Given the description of an element on the screen output the (x, y) to click on. 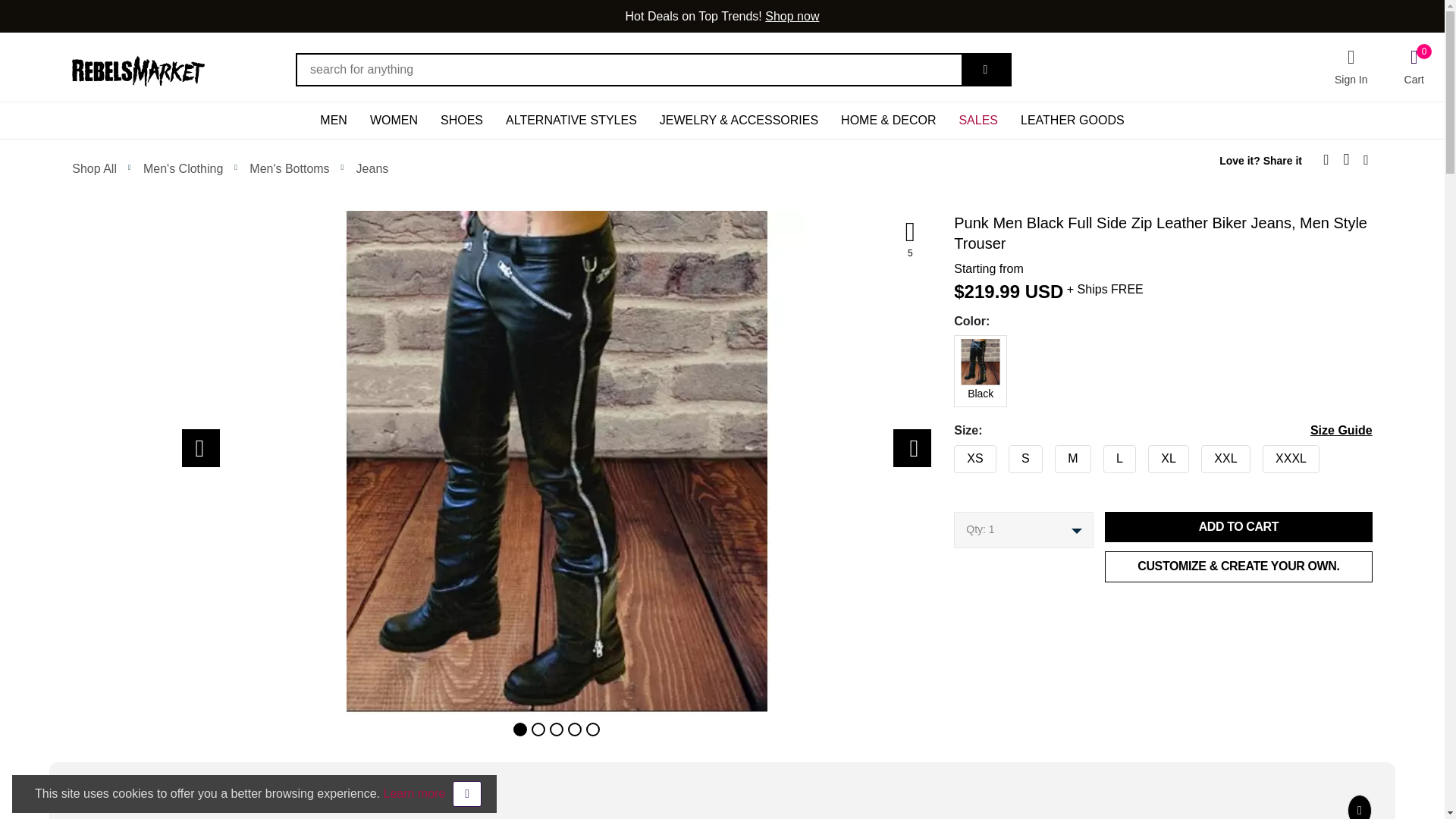
XXL (949, 455)
XS (949, 455)
S (949, 455)
XXXL (949, 455)
219.99 (991, 291)
M (949, 455)
MEN (333, 119)
L (949, 455)
WOMEN (393, 119)
Black (949, 345)
XL (949, 455)
Sign In (1351, 66)
USD (1044, 291)
